Given the description of an element on the screen output the (x, y) to click on. 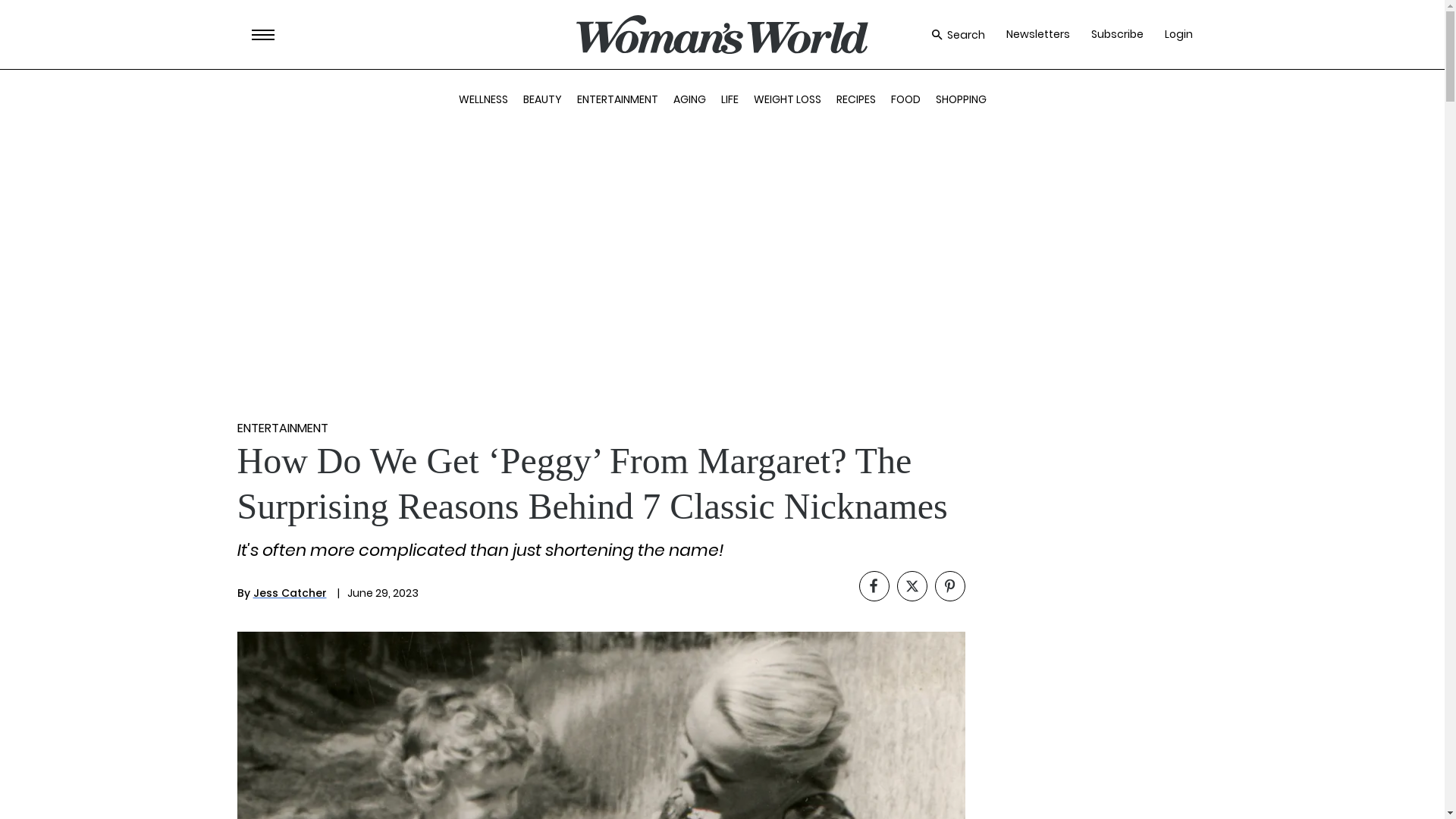
Click to share on Pinterest (948, 585)
Click to share on Facebook (873, 585)
Click to share on Twitter (911, 585)
